Given the description of an element on the screen output the (x, y) to click on. 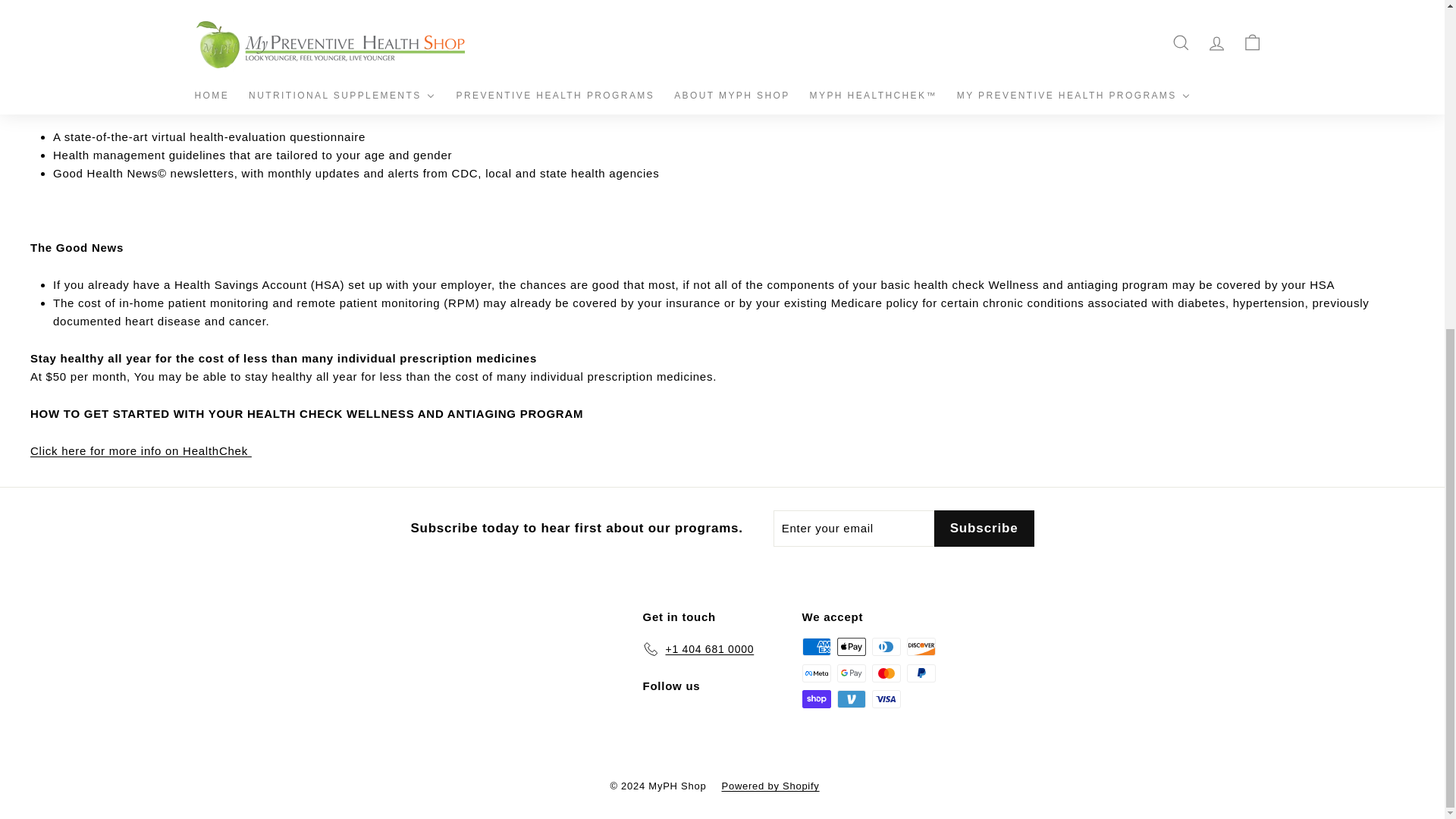
PayPal (921, 673)
Google Pay (851, 673)
Shop Pay (816, 699)
Discover (921, 647)
Mastercard (886, 673)
Meta Pay (816, 673)
Apple Pay (851, 647)
Diners Club (886, 647)
American Express (816, 647)
Visa (886, 699)
